Given the description of an element on the screen output the (x, y) to click on. 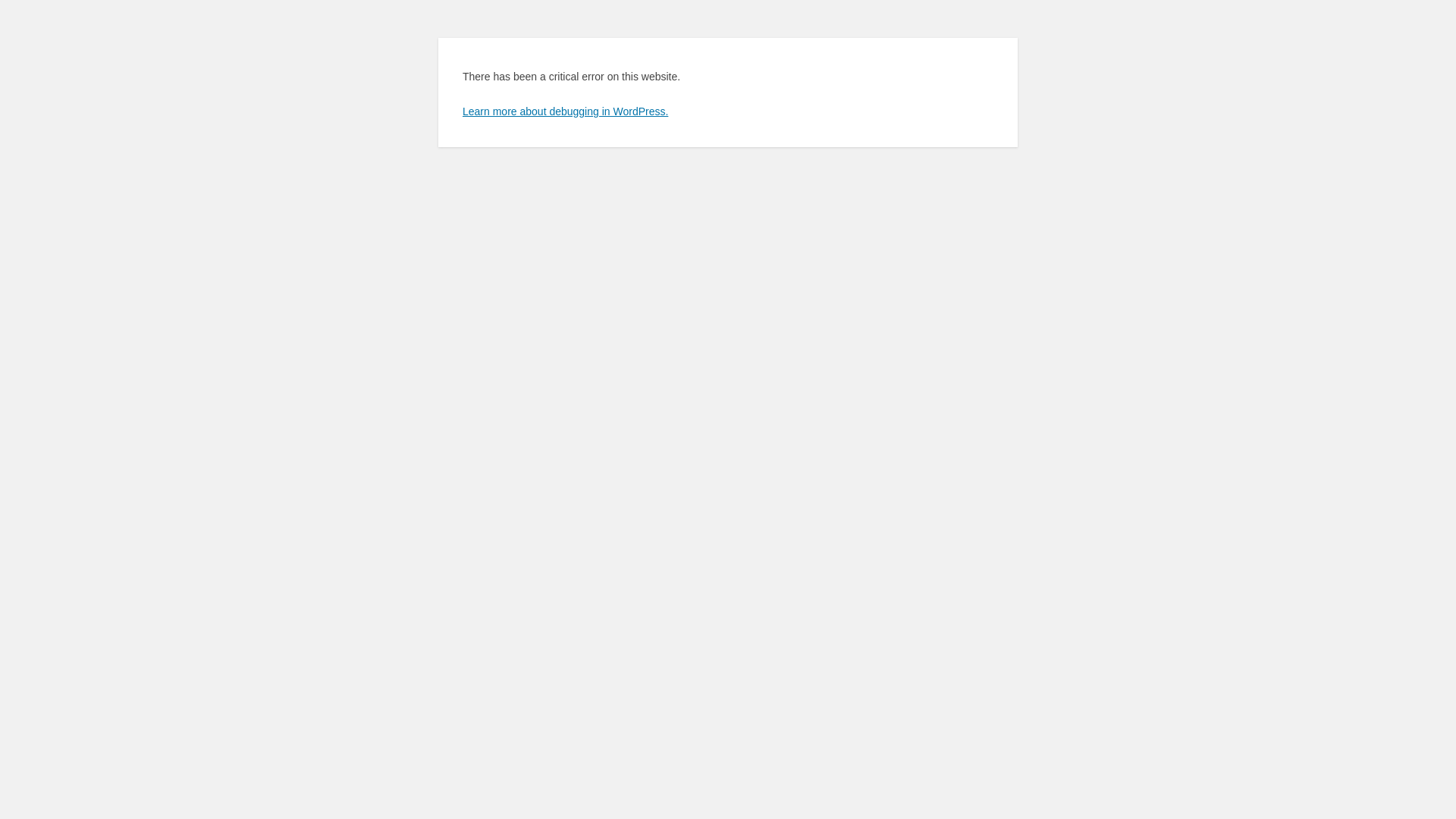
Learn more about debugging in WordPress. Element type: text (565, 111)
